Given the description of an element on the screen output the (x, y) to click on. 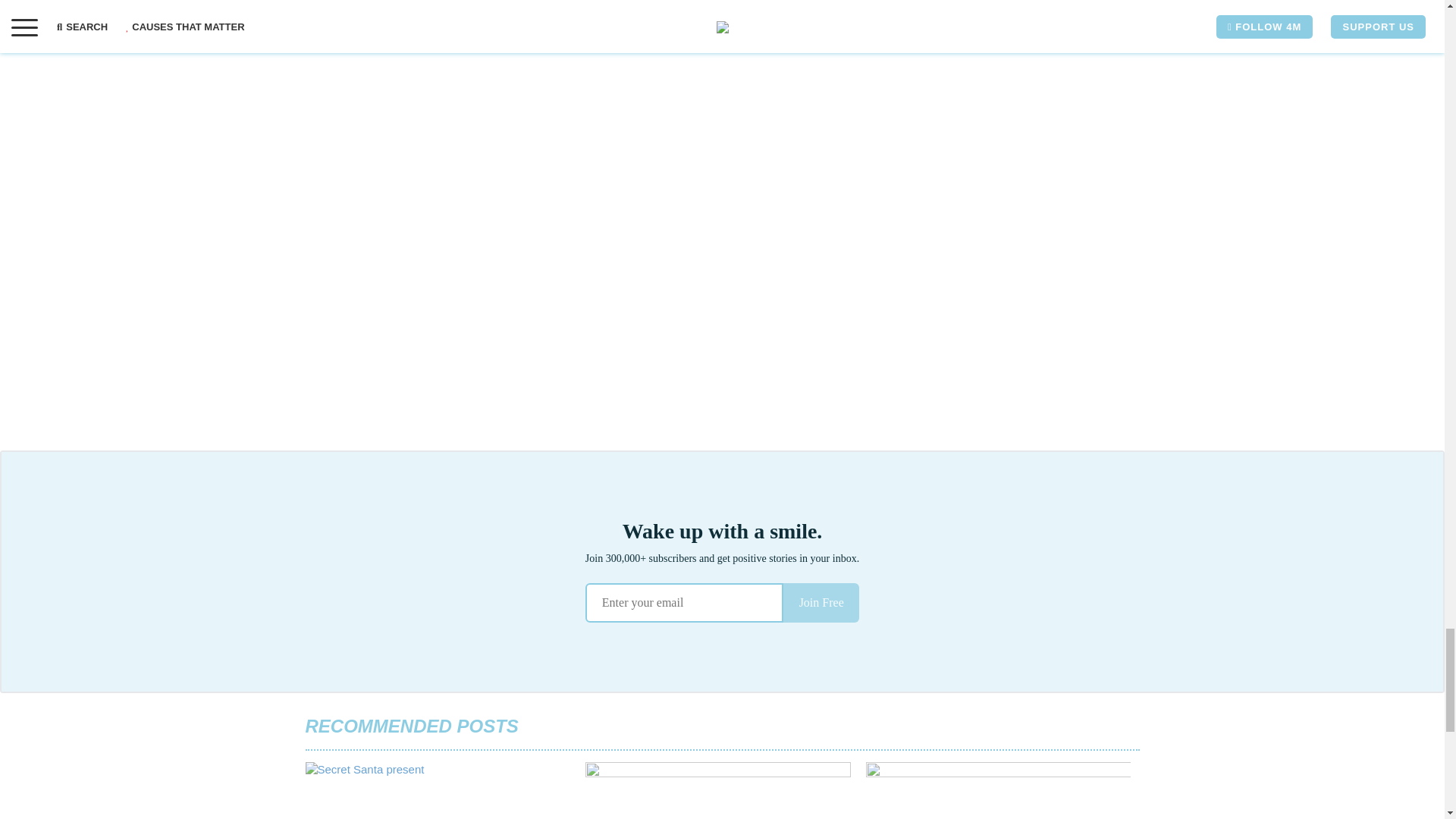
Click to share on Facebook (316, 40)
Click to share on Pinterest (377, 40)
Click to share on Twitter (346, 40)
